Given the description of an element on the screen output the (x, y) to click on. 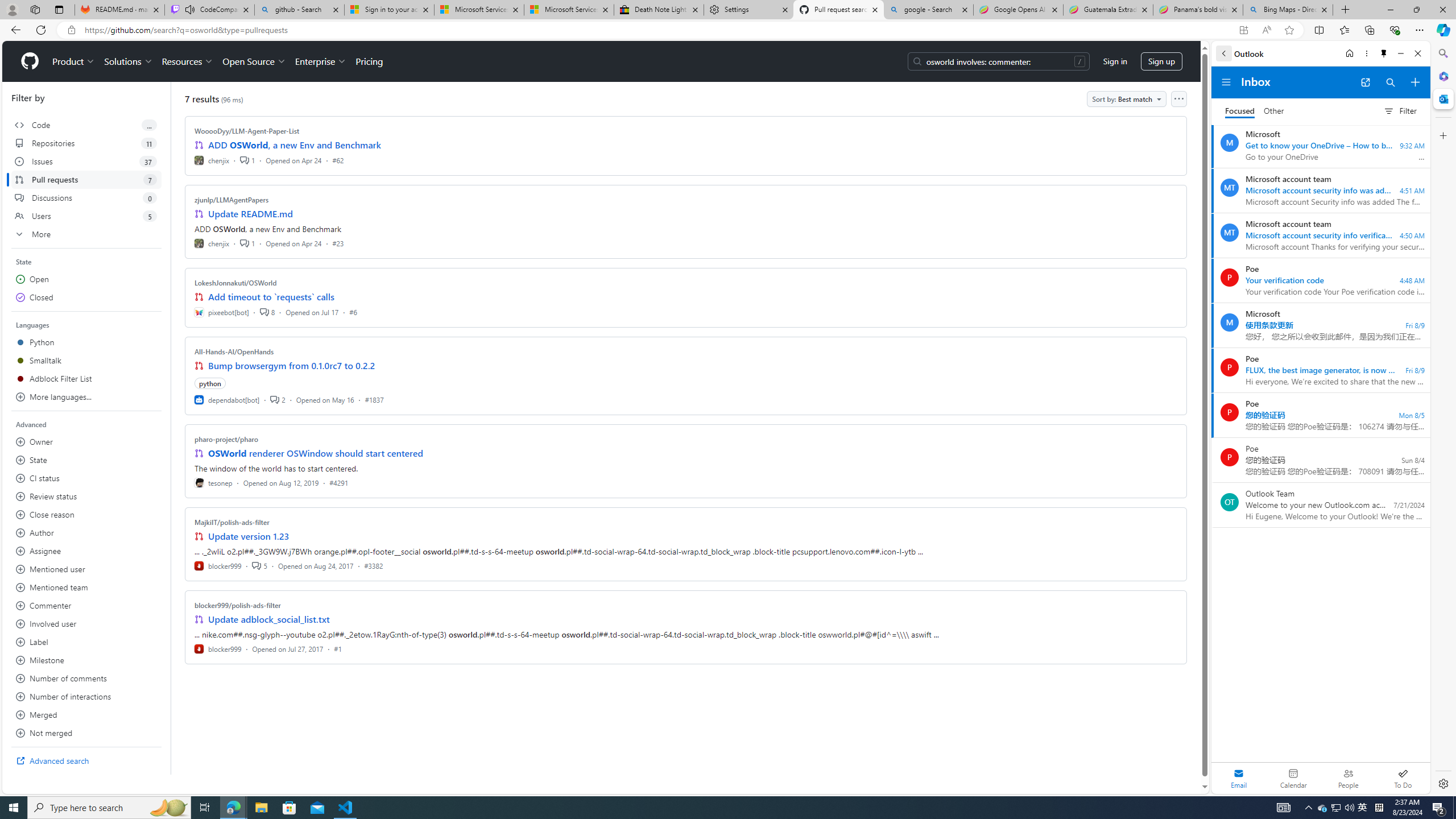
Enterprise (319, 60)
